Given the description of an element on the screen output the (x, y) to click on. 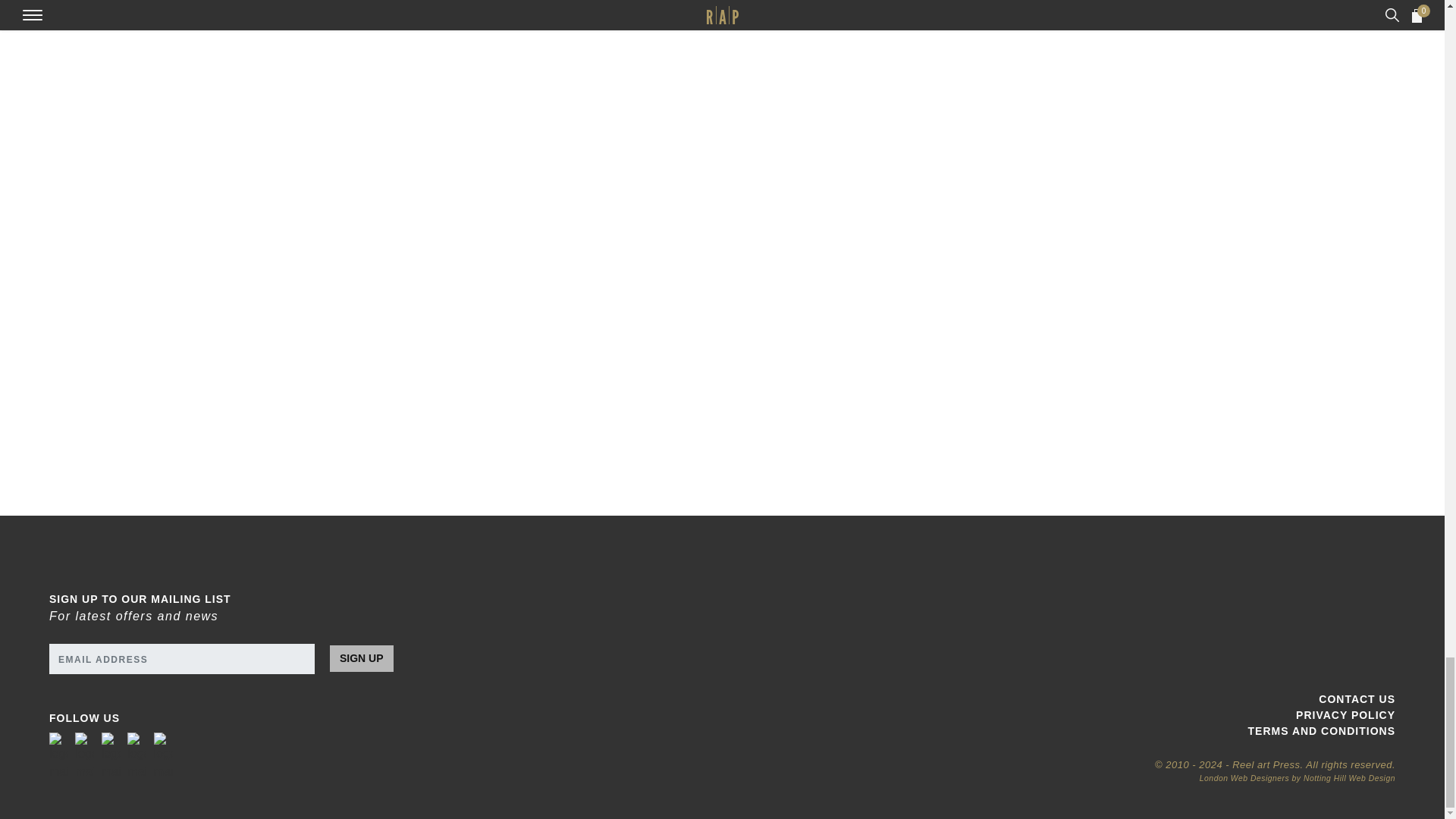
TERMS AND CONDITIONS (1064, 731)
CONTACT US (1064, 699)
SIGN UP (361, 658)
PRIVACY POLICY (1064, 715)
London Web Designers (1243, 777)
Reel art Press. (1267, 764)
Notting Hill Web Design (1348, 777)
